Given the description of an element on the screen output the (x, y) to click on. 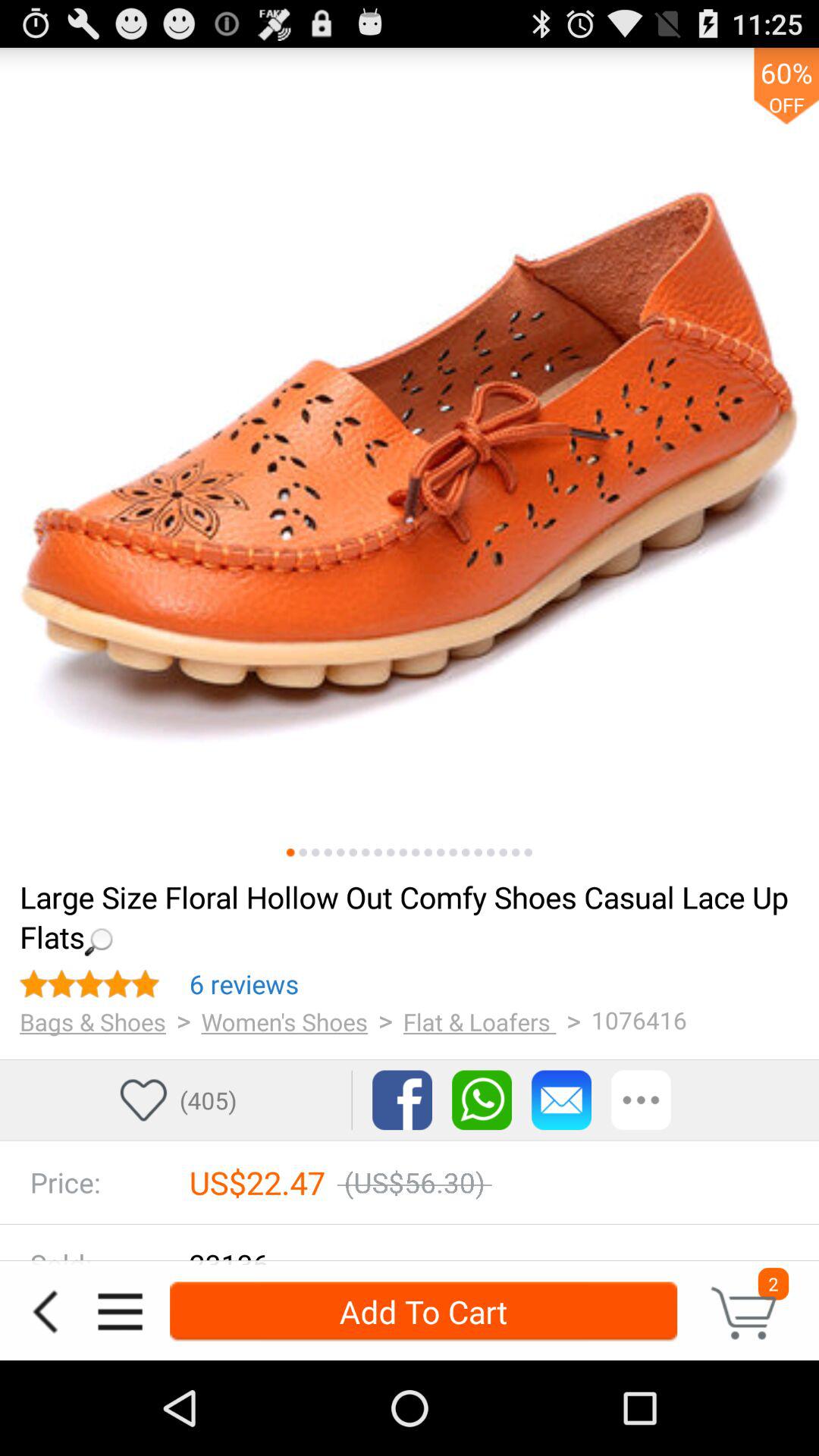
go to previous (45, 1311)
